Given the description of an element on the screen output the (x, y) to click on. 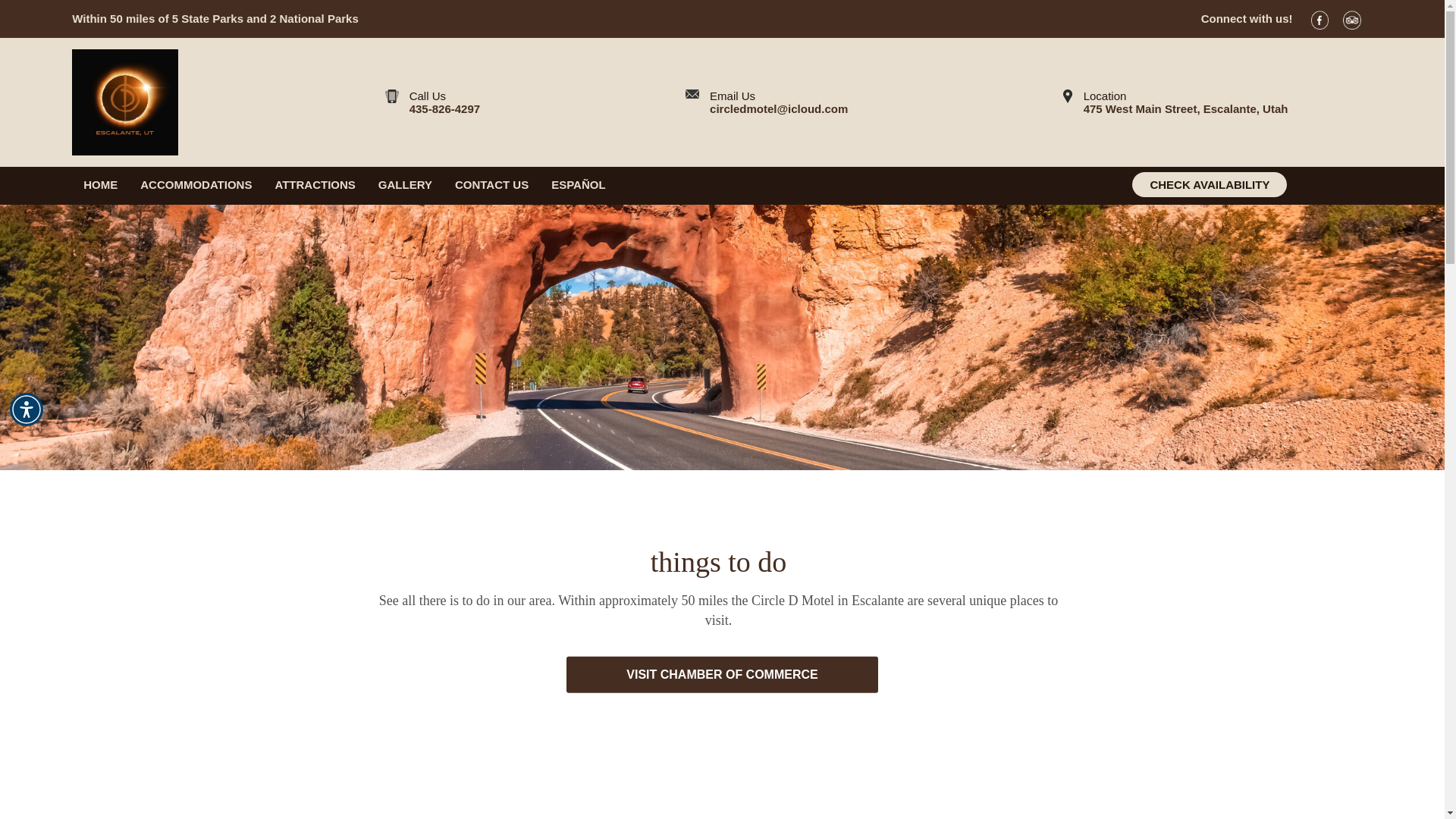
CONTACT US (492, 184)
ATTRACTIONS (314, 184)
HOME (432, 102)
GALLERY (1175, 102)
CHECK AVAILABILITY (100, 184)
VISIT CHAMBER OF COMMERCE (405, 184)
VISIT CHAMBER OF COMMERCE (1209, 184)
Accessibility Menu (721, 674)
ACCOMMODATIONS (722, 674)
